Given the description of an element on the screen output the (x, y) to click on. 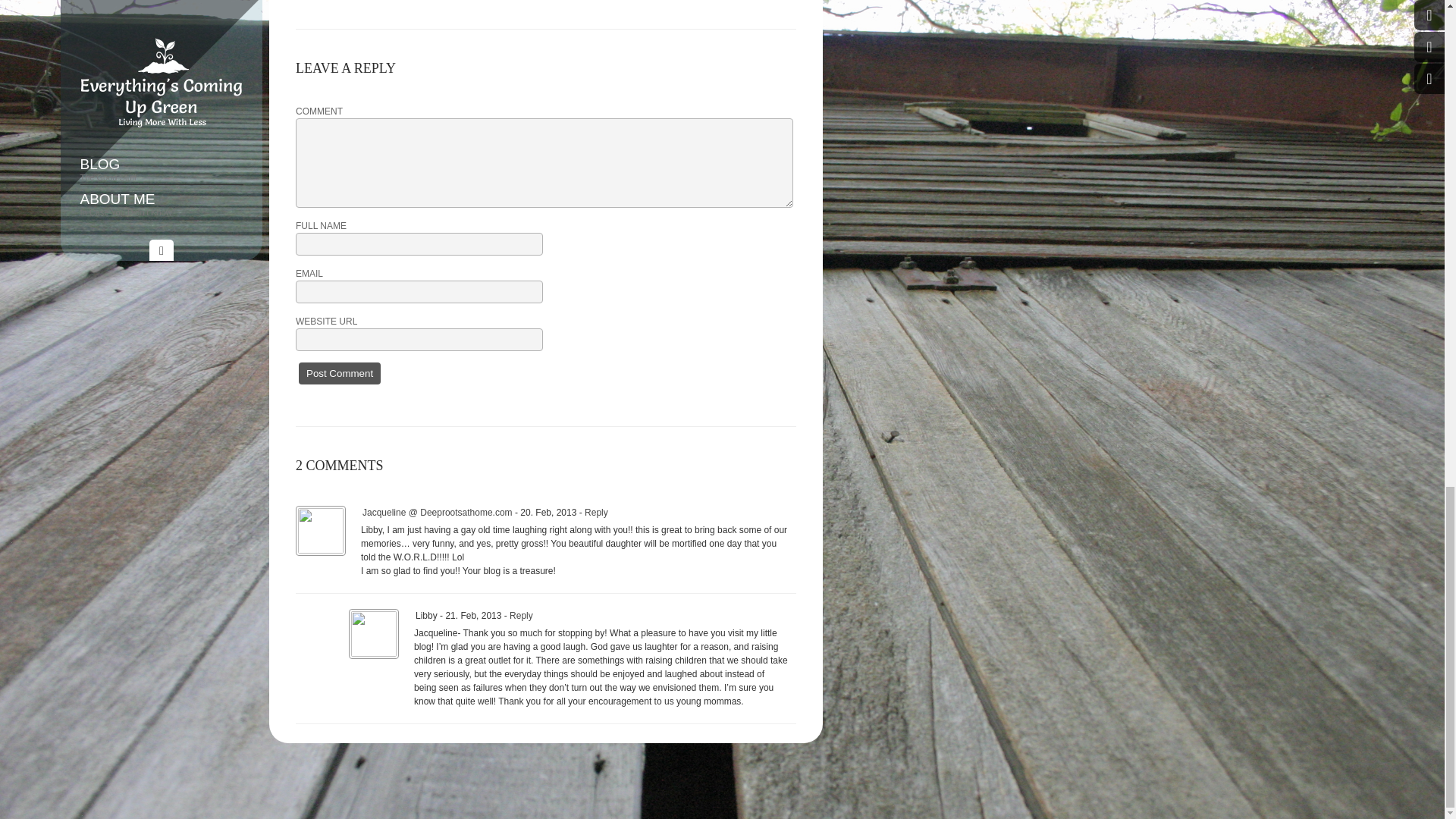
Post Comment (339, 373)
Reply (596, 511)
Reply (520, 615)
Post Comment (339, 373)
